Given the description of an element on the screen output the (x, y) to click on. 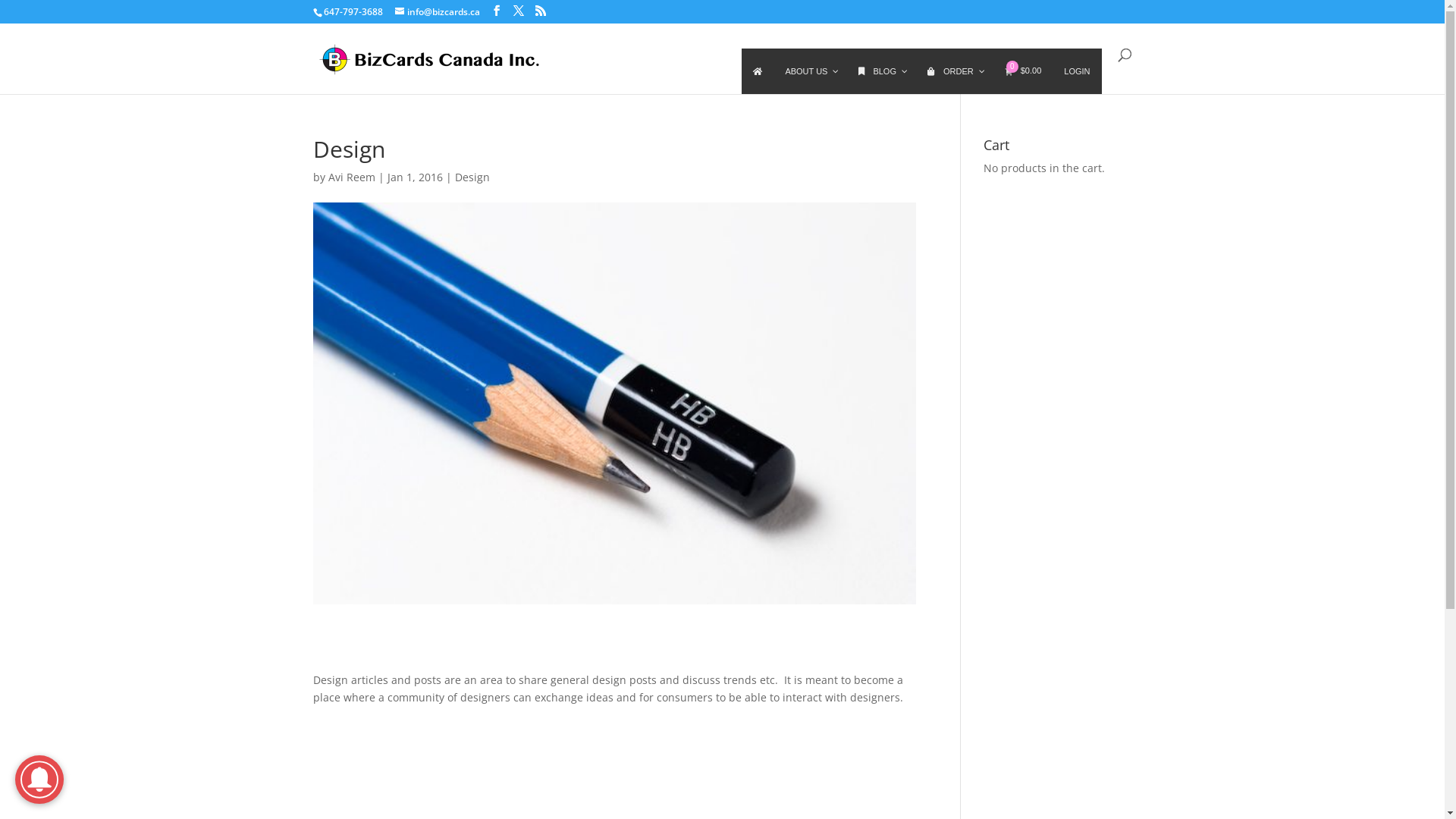
Design Element type: text (472, 176)
BLOG Element type: text (881, 71)
0
$0.00 Element type: text (1023, 71)
Avi Reem Element type: text (350, 176)
LOGIN Element type: text (1076, 71)
info@bizcards.ca Element type: text (436, 11)
ABOUT US Element type: text (810, 71)
ORDER Element type: text (954, 71)
